Given the description of an element on the screen output the (x, y) to click on. 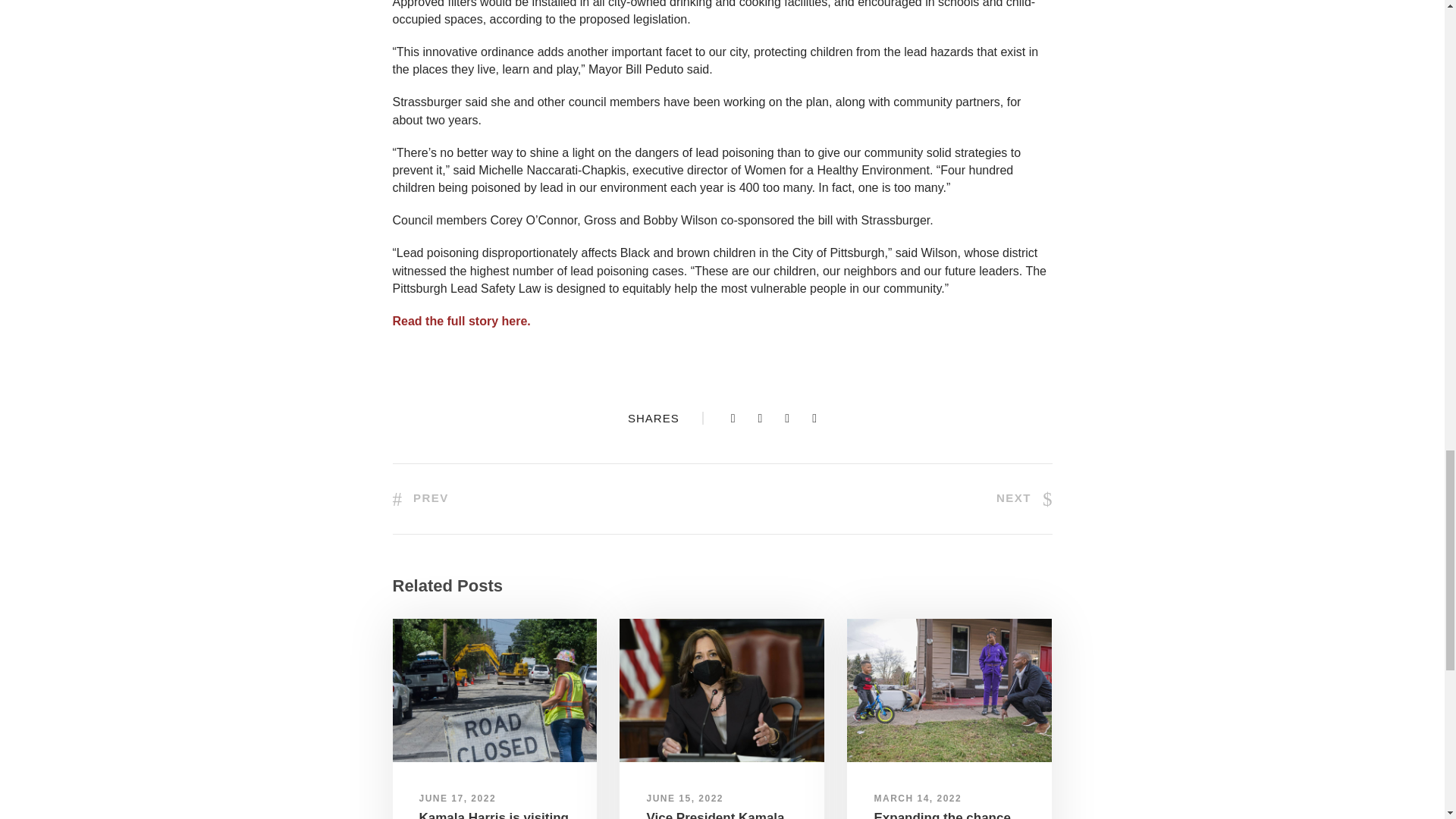
road-closed (494, 690)
Harris (722, 690)
Crocodile (949, 690)
Read the full story here. (462, 320)
